Given the description of an element on the screen output the (x, y) to click on. 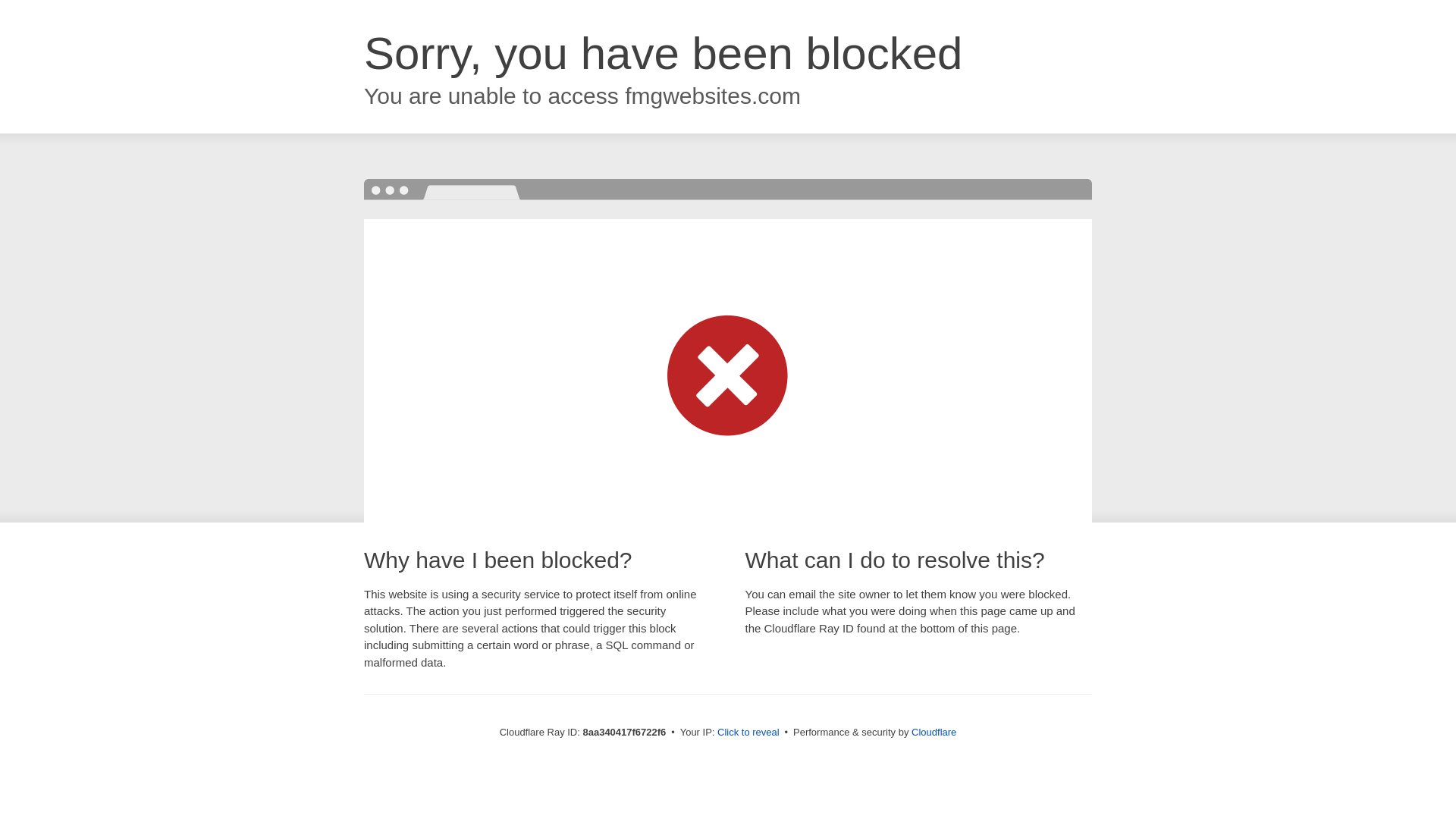
Click to reveal (747, 732)
Cloudflare (933, 731)
